Given the description of an element on the screen output the (x, y) to click on. 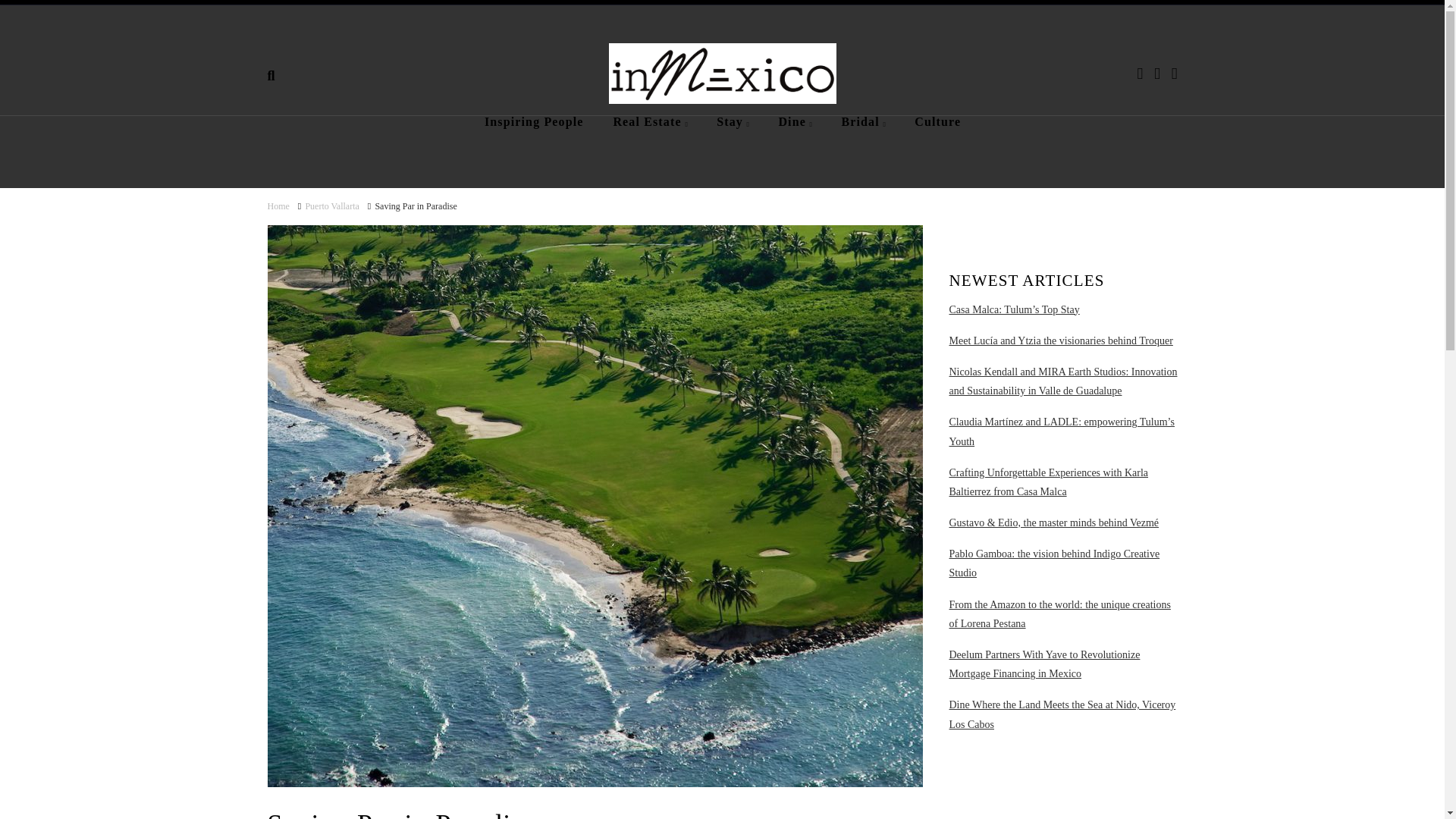
Stay (731, 142)
You Are Here (415, 205)
Instagram (1174, 73)
Real Estate (648, 142)
Inspiring People (533, 142)
Facebook (1139, 73)
